Given the description of an element on the screen output the (x, y) to click on. 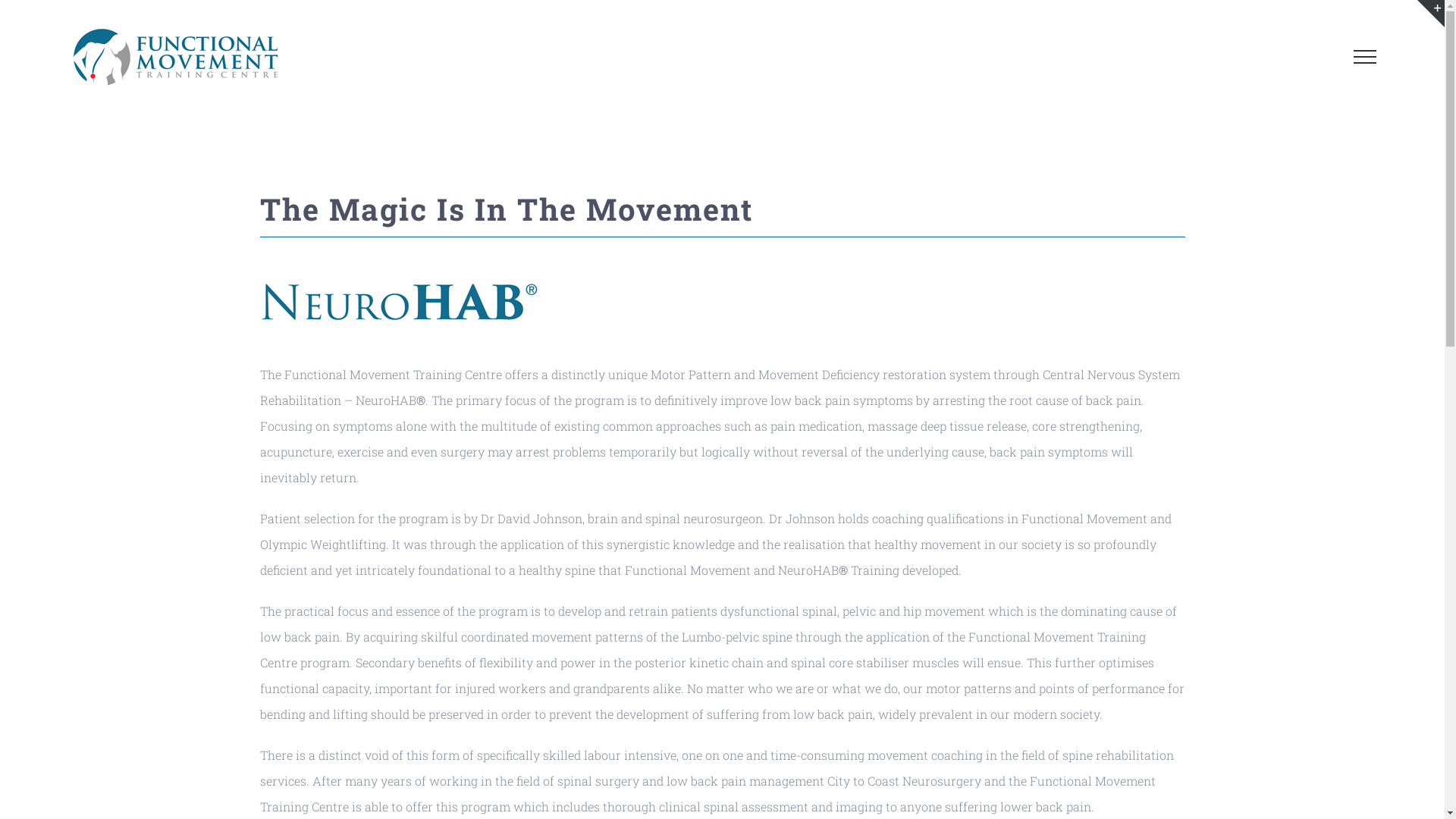
Screen Shot 2017-02-23 at 1.48.47 pm Element type: hover (399, 300)
Toggle Sliding Bar Area Element type: text (1430, 13)
